Given the description of an element on the screen output the (x, y) to click on. 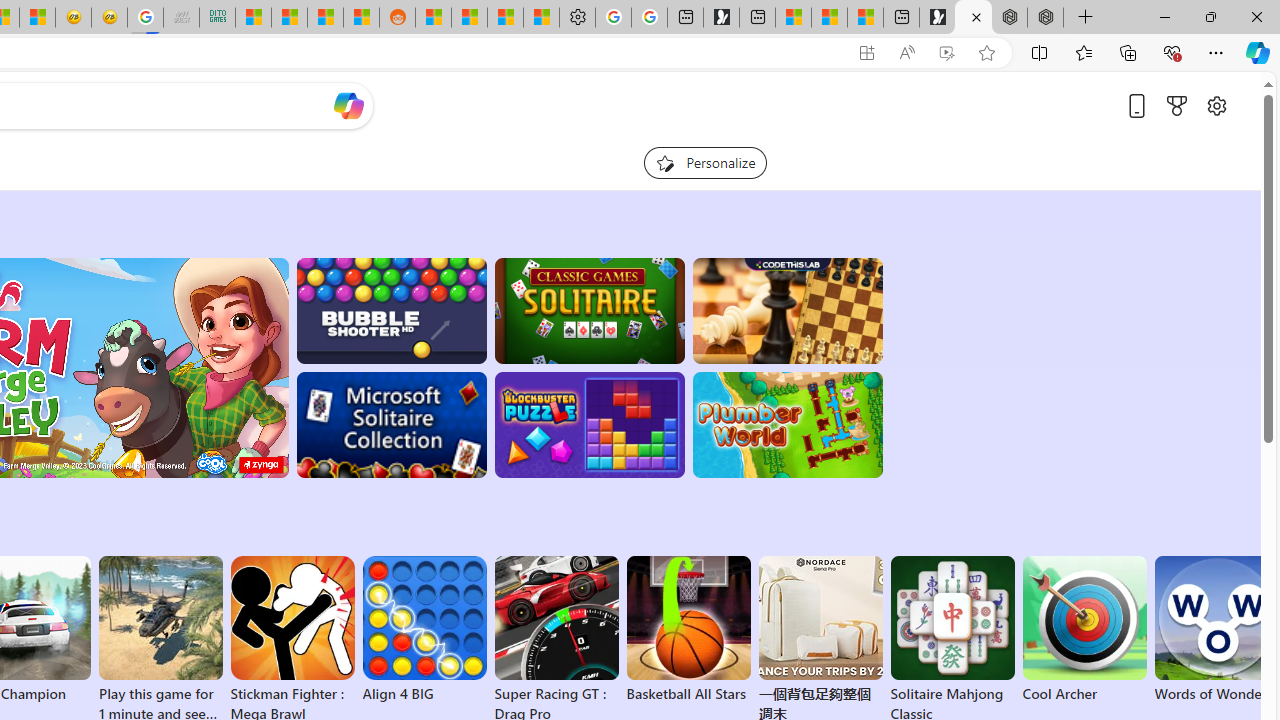
BlockBuster: Adventures Puzzle (589, 425)
App available. Install Games from Microsoft Start (867, 53)
Nordace - Nordace Siena Is Not An Ordinary Backpack (1045, 17)
